Given the description of an element on the screen output the (x, y) to click on. 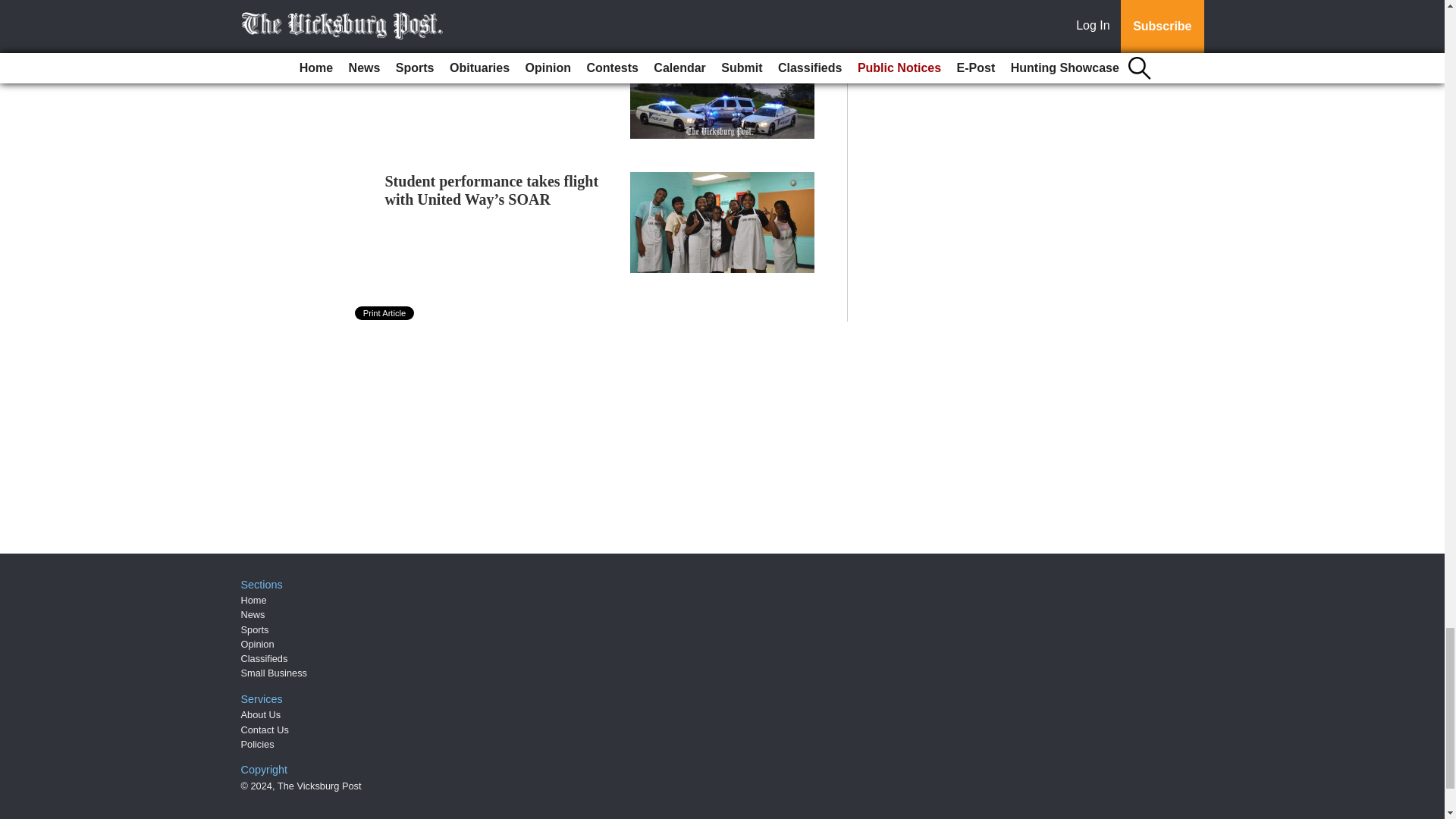
Print Article (384, 313)
